Given the description of an element on the screen output the (x, y) to click on. 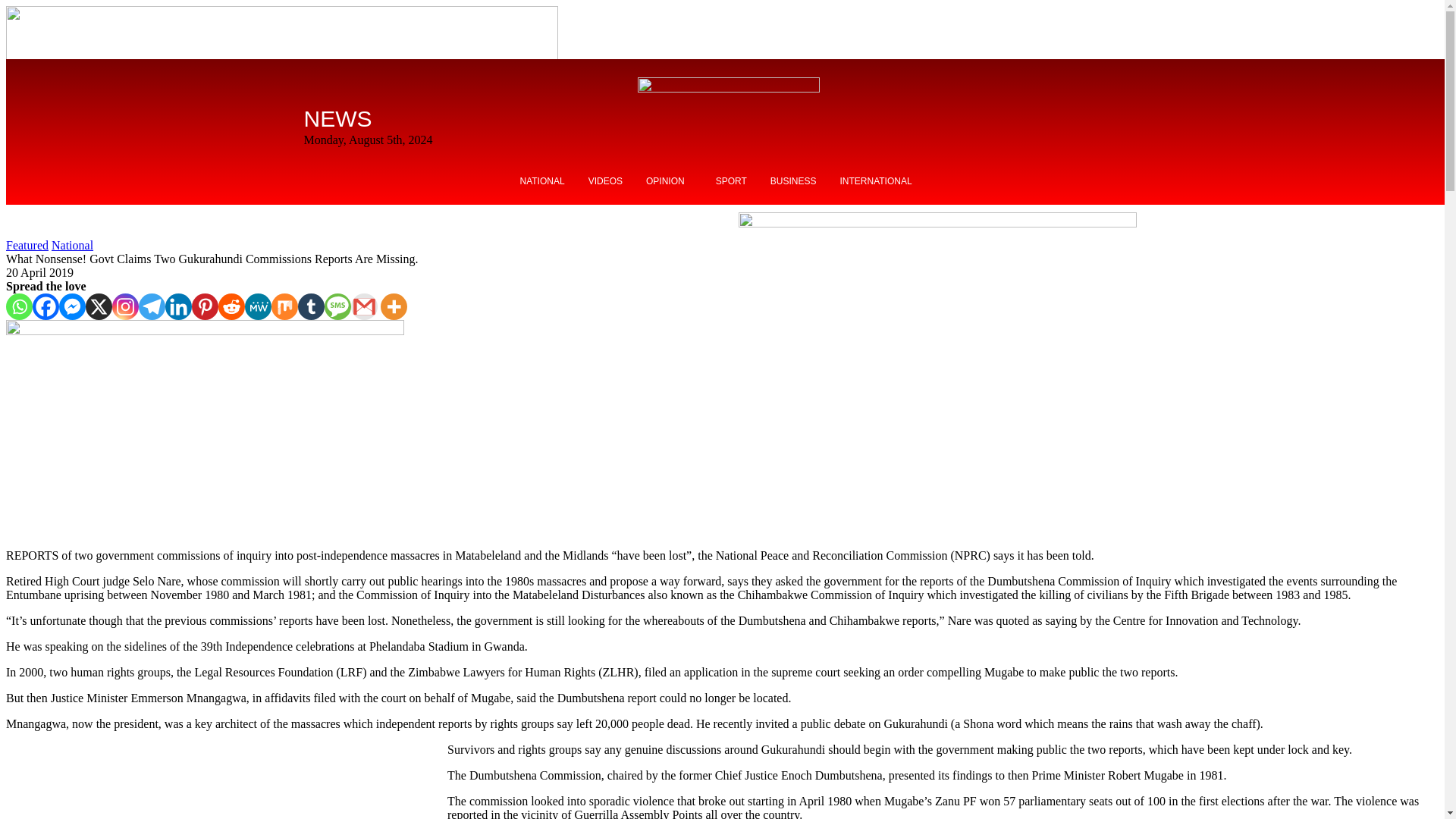
Featured (26, 245)
MeWe (257, 306)
Whatsapp (18, 306)
National (71, 245)
OPINION (669, 181)
BUSINESS (793, 181)
Facebook Messenger (72, 306)
Reddit (231, 306)
Telegram (151, 306)
Instagram (125, 306)
